Given the description of an element on the screen output the (x, y) to click on. 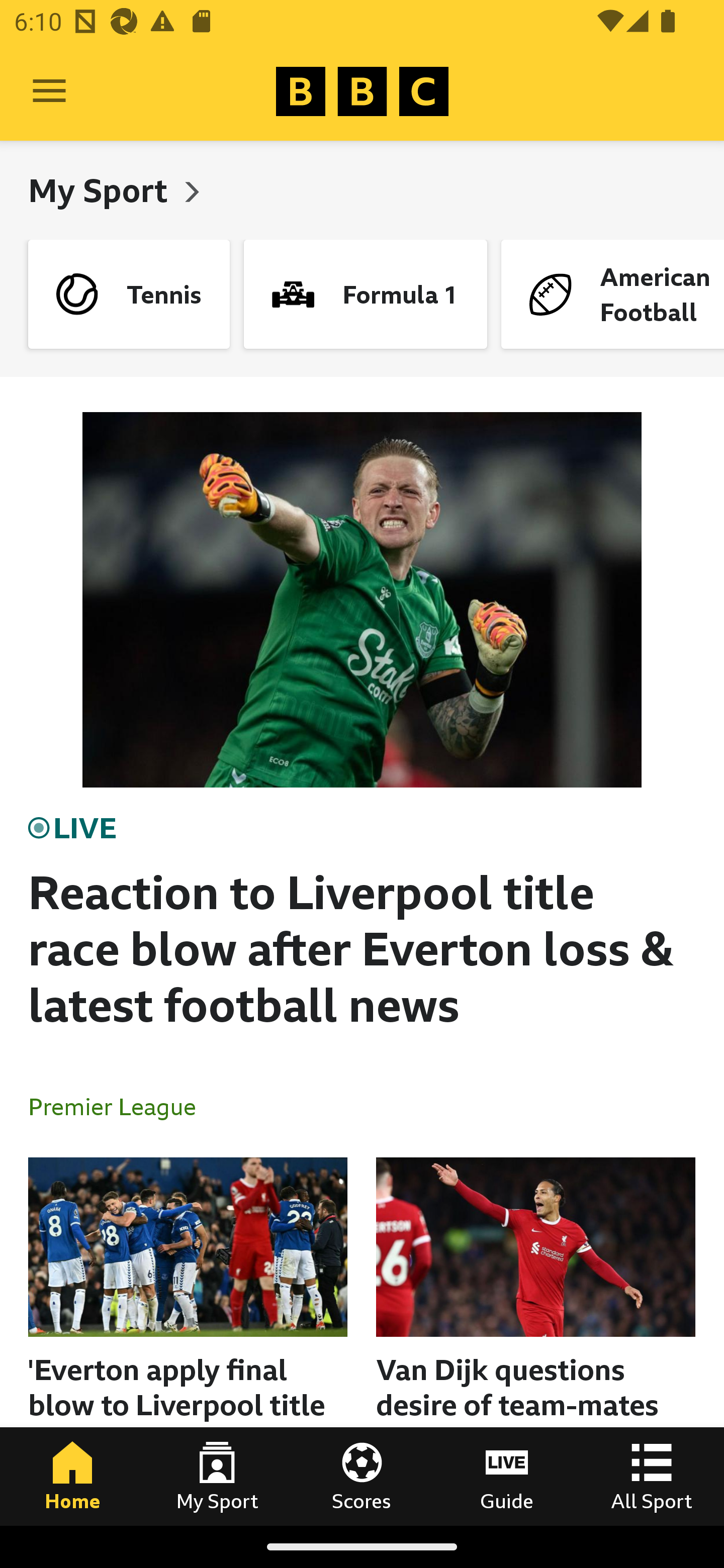
Open Menu (49, 91)
My Sport (101, 190)
Premier League In the section Premier League (119, 1106)
My Sport (216, 1475)
Scores (361, 1475)
Guide (506, 1475)
All Sport (651, 1475)
